Given the description of an element on the screen output the (x, y) to click on. 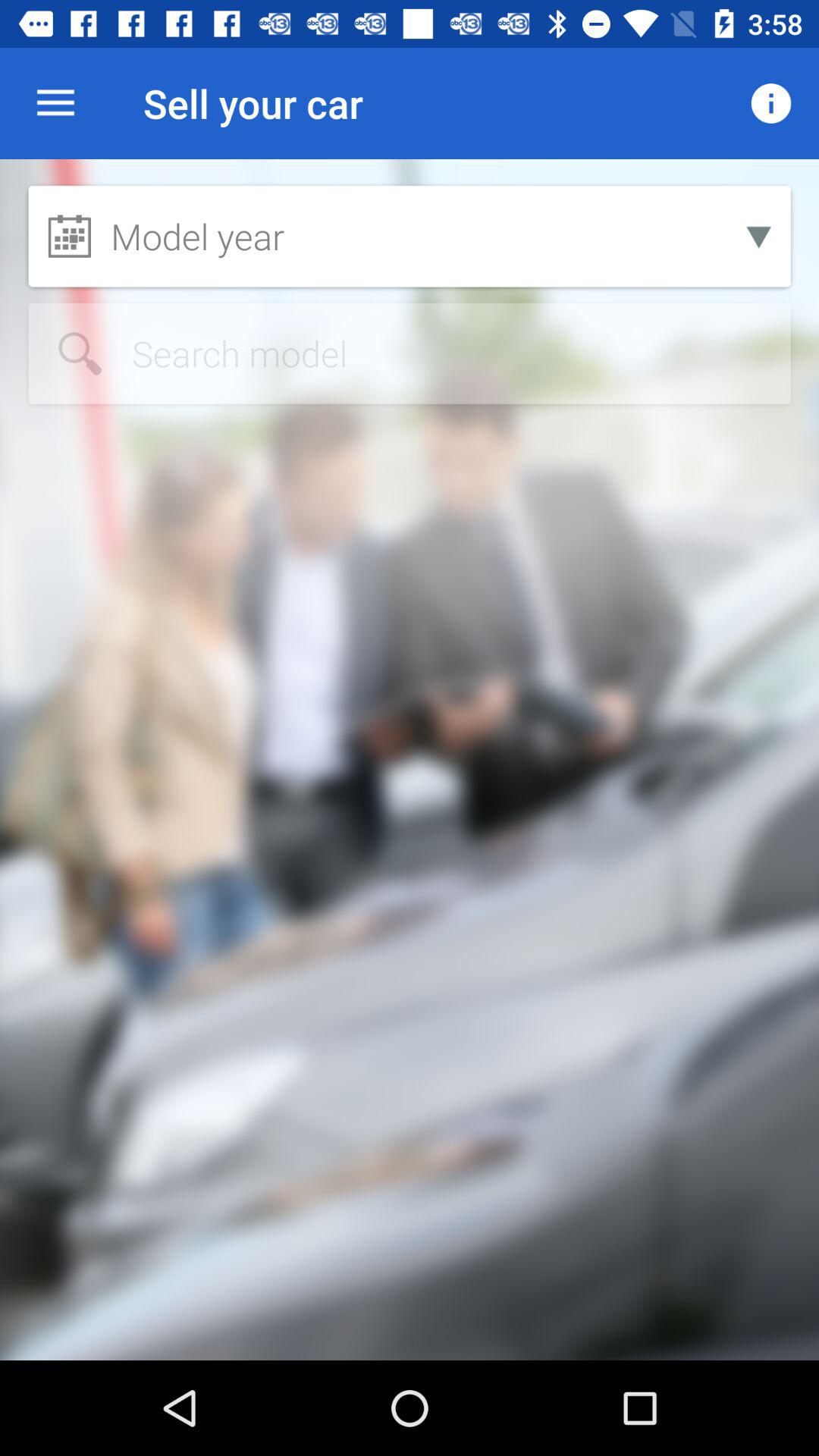
click the icon next to the sell your car (55, 103)
